Given the description of an element on the screen output the (x, y) to click on. 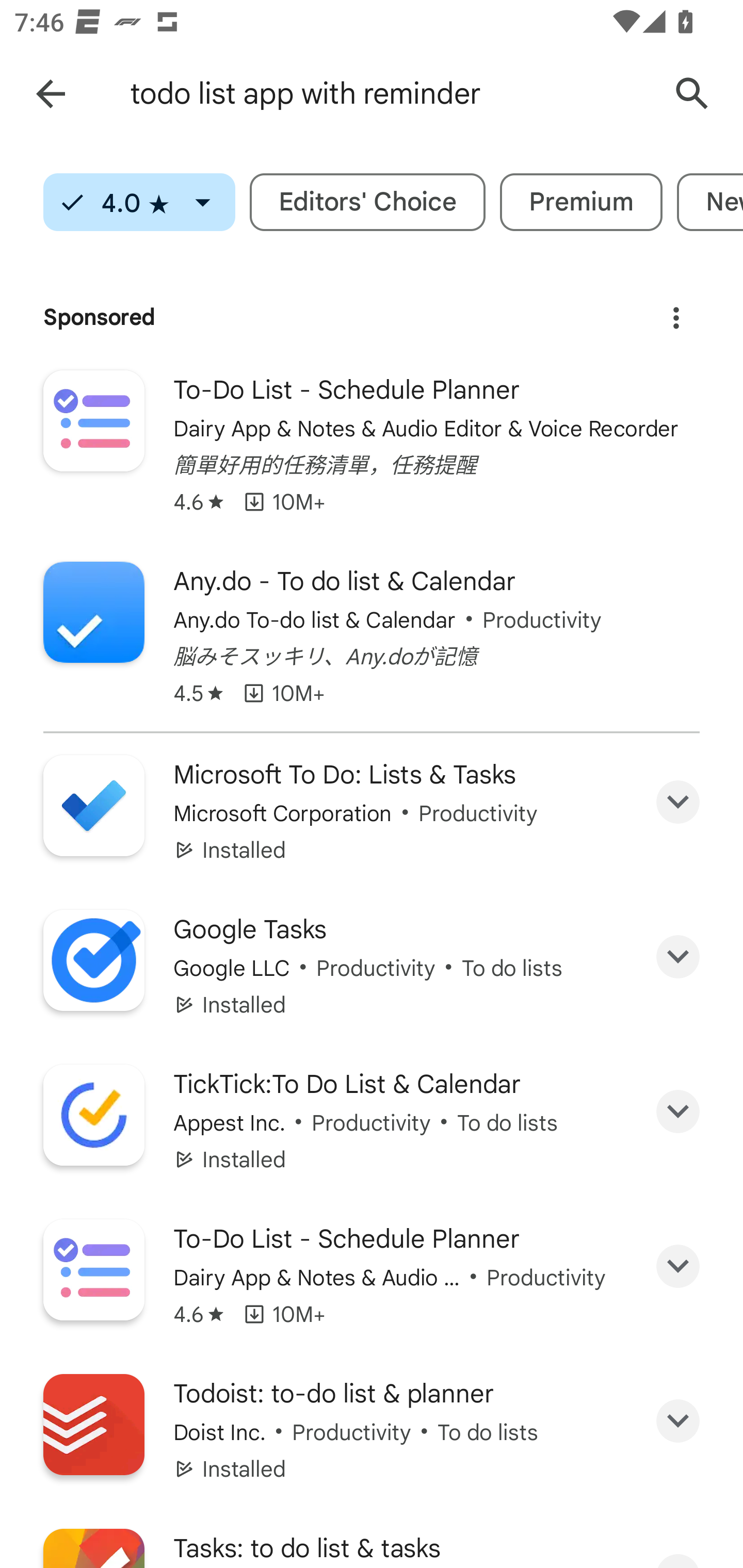
todo list app with reminder (389, 93)
Navigate up (50, 93)
Search Google Play (692, 93)
Editors' Choice - double tap to toggle the filter (367, 202)
Premium - double tap to toggle the filter (581, 202)
About this ad (676, 311)
Expand content for Microsoft To Do: Lists & Tasks (677, 801)
Expand content for Google Tasks (677, 957)
Expand content for TickTick:To Do List & Calendar (677, 1111)
Expand content for To-Do List - Schedule Planner (677, 1266)
Expand content for Todoist: to-do list & planner (677, 1421)
